Given the description of an element on the screen output the (x, y) to click on. 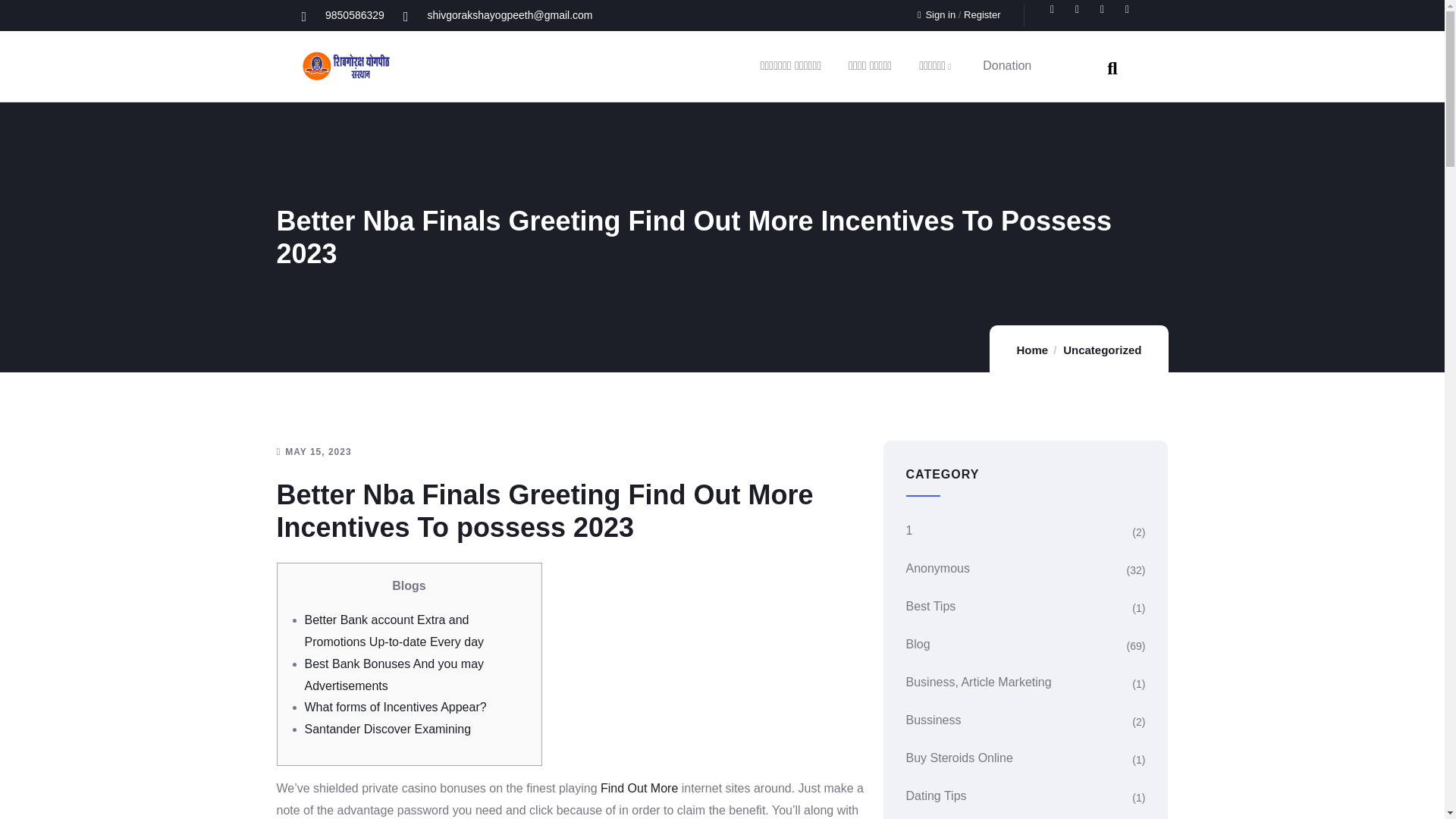
Home (346, 66)
